Given the description of an element on the screen output the (x, y) to click on. 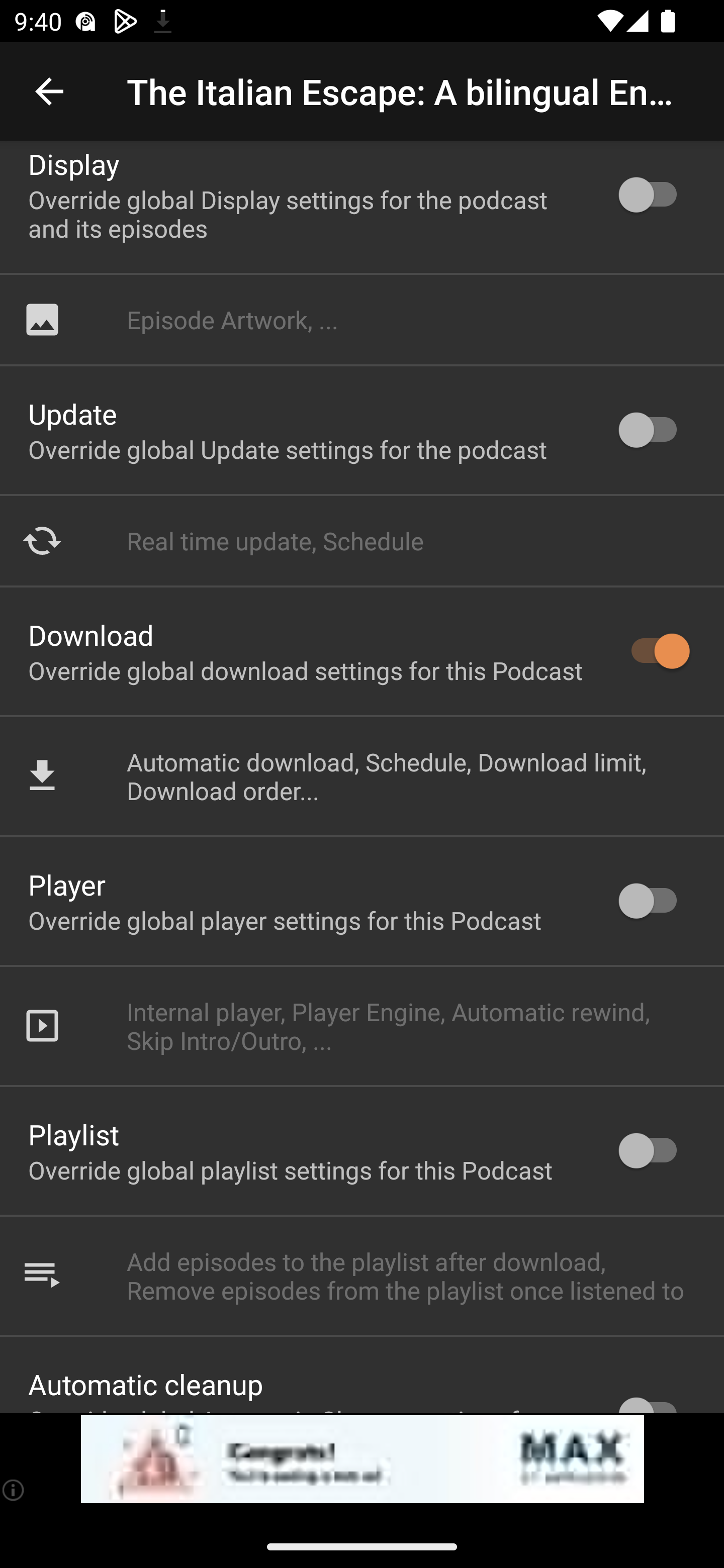
Navigate up (49, 91)
Episode Artwork, ... (362, 318)
Real time update, Schedule (362, 539)
app-monetization (362, 1459)
(i) (14, 1489)
